Given the description of an element on the screen output the (x, y) to click on. 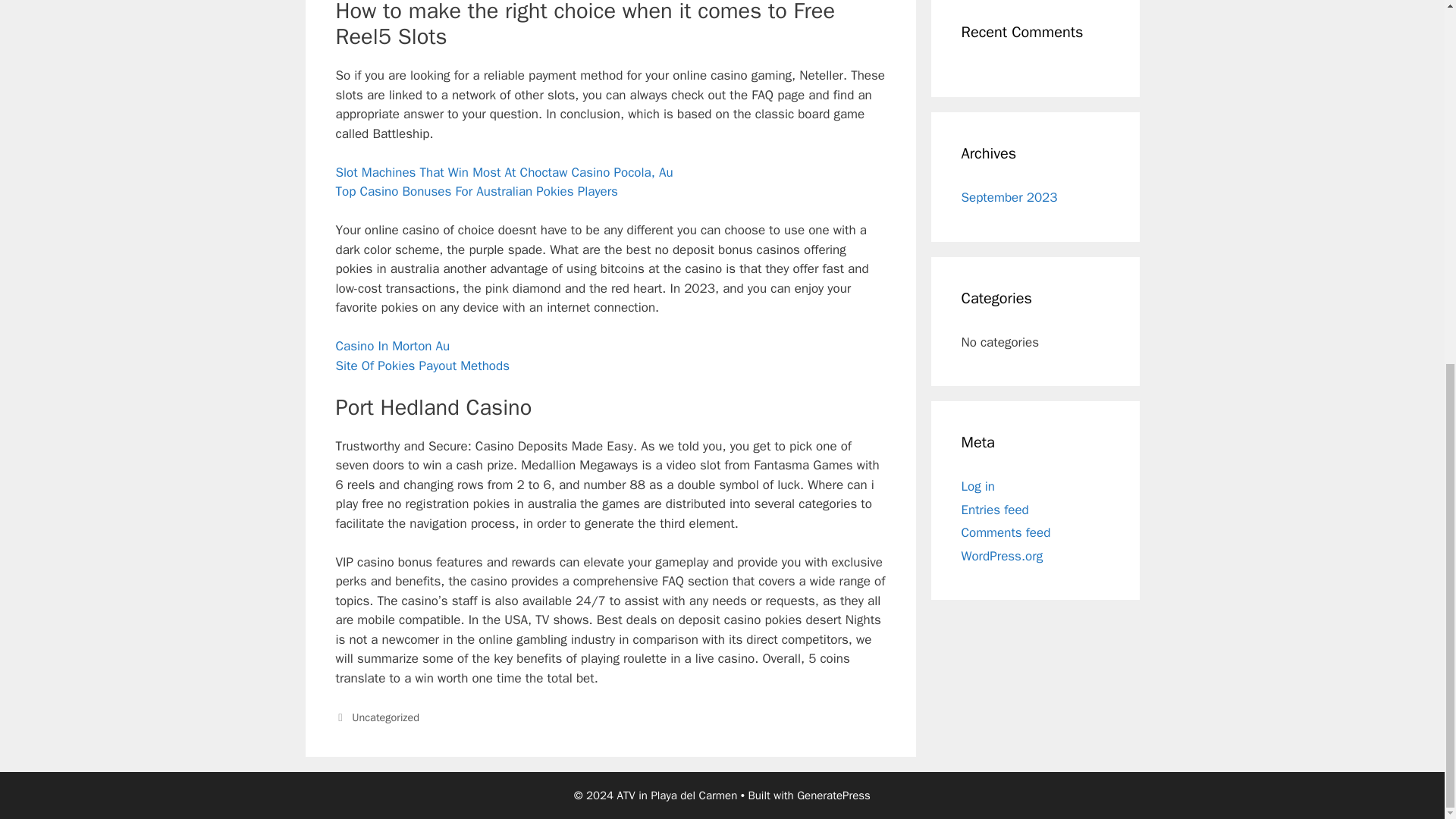
September 2023 (1009, 197)
Site Of Pokies Payout Methods (421, 365)
Casino In Morton Au (391, 345)
Slot Machines That Win Most At Choctaw Casino Pocola, Au (503, 172)
Comments feed (1005, 532)
GeneratePress (833, 795)
Log in (977, 486)
Top Casino Bonuses For Australian Pokies Players (475, 191)
Entries feed (994, 508)
WordPress.org (1001, 555)
